Given the description of an element on the screen output the (x, y) to click on. 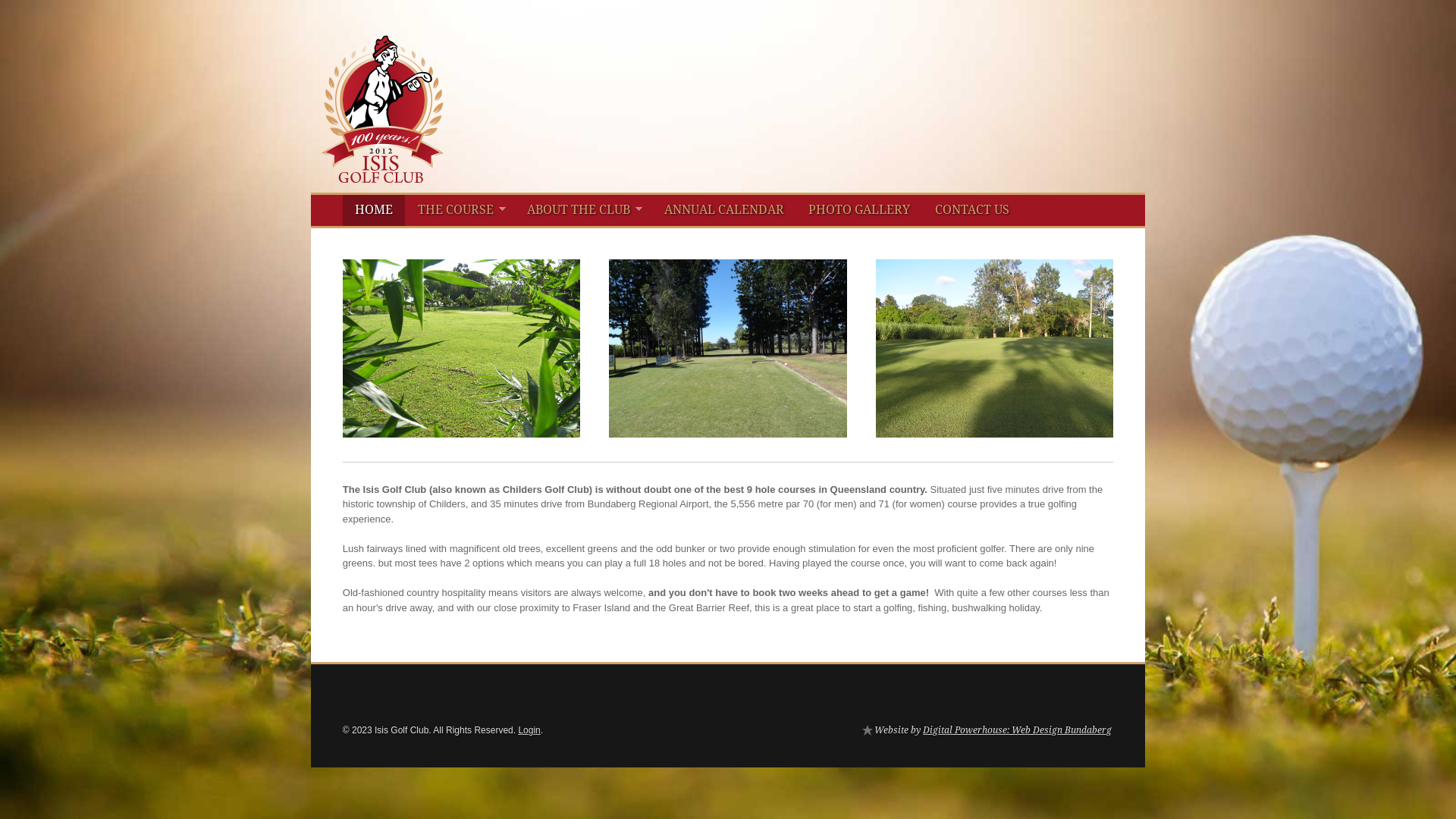
Login Element type: text (528, 729)
CONTACT US Element type: text (972, 209)
Digital Powerhouse: Web Design Bundaberg Element type: text (1016, 729)
ANNUAL CALENDAR Element type: text (724, 209)
HOME Element type: text (373, 209)
PHOTO GALLERY Element type: text (859, 209)
Isis Golf Club Element type: hover (382, 170)
